Given the description of an element on the screen output the (x, y) to click on. 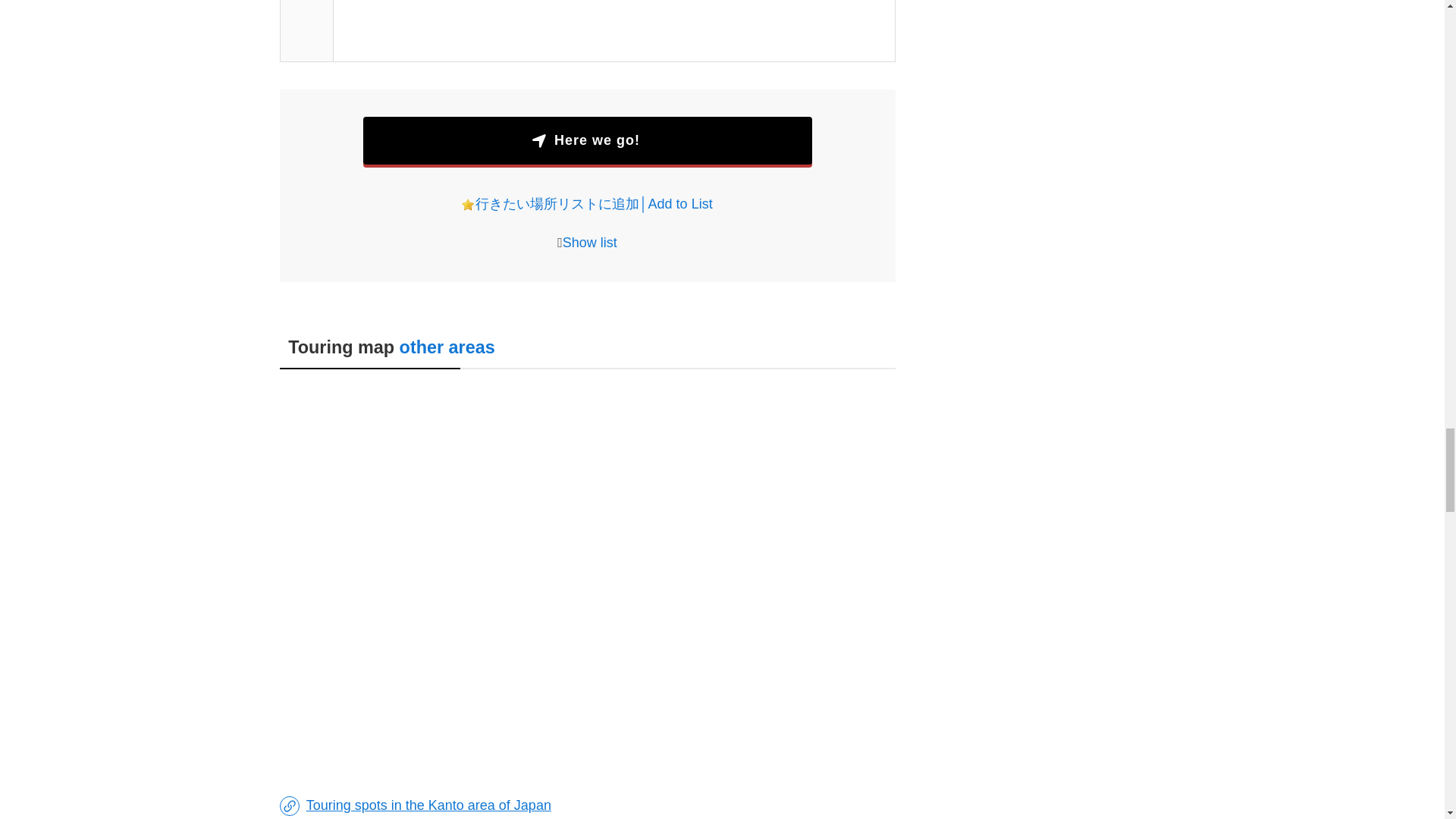
Favorite (467, 204)
